Given the description of an element on the screen output the (x, y) to click on. 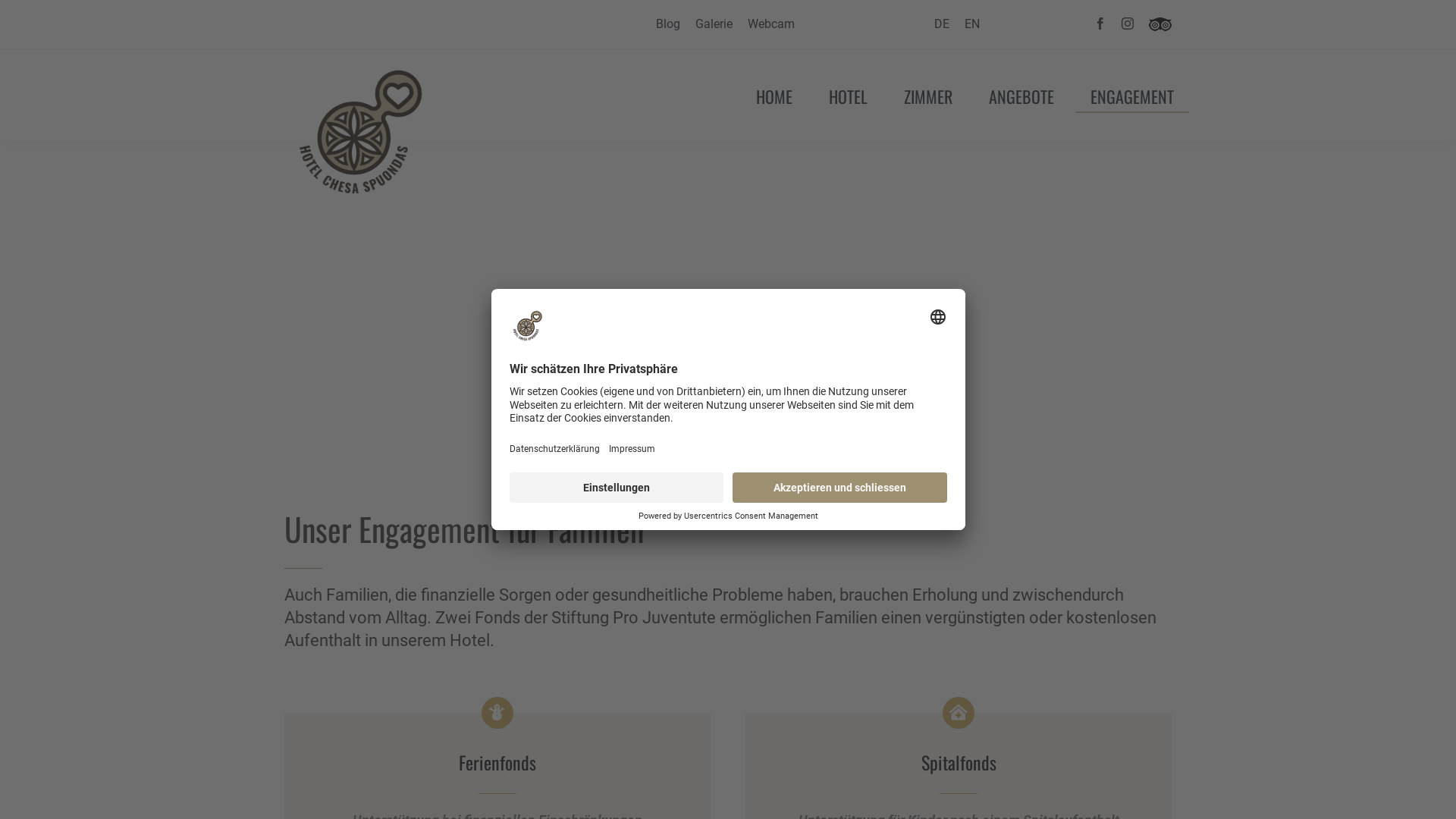
EN Element type: text (972, 23)
ANGEBOTE Element type: text (1021, 94)
Galerie Element type: text (713, 24)
Blog Element type: text (667, 24)
HOTEL Element type: text (847, 94)
DE Element type: text (941, 23)
HOME Element type: text (773, 94)
ZIMMER Element type: text (927, 94)
Webcam Element type: text (771, 24)
ENGAGEMENT Element type: text (1132, 94)
